Given the description of an element on the screen output the (x, y) to click on. 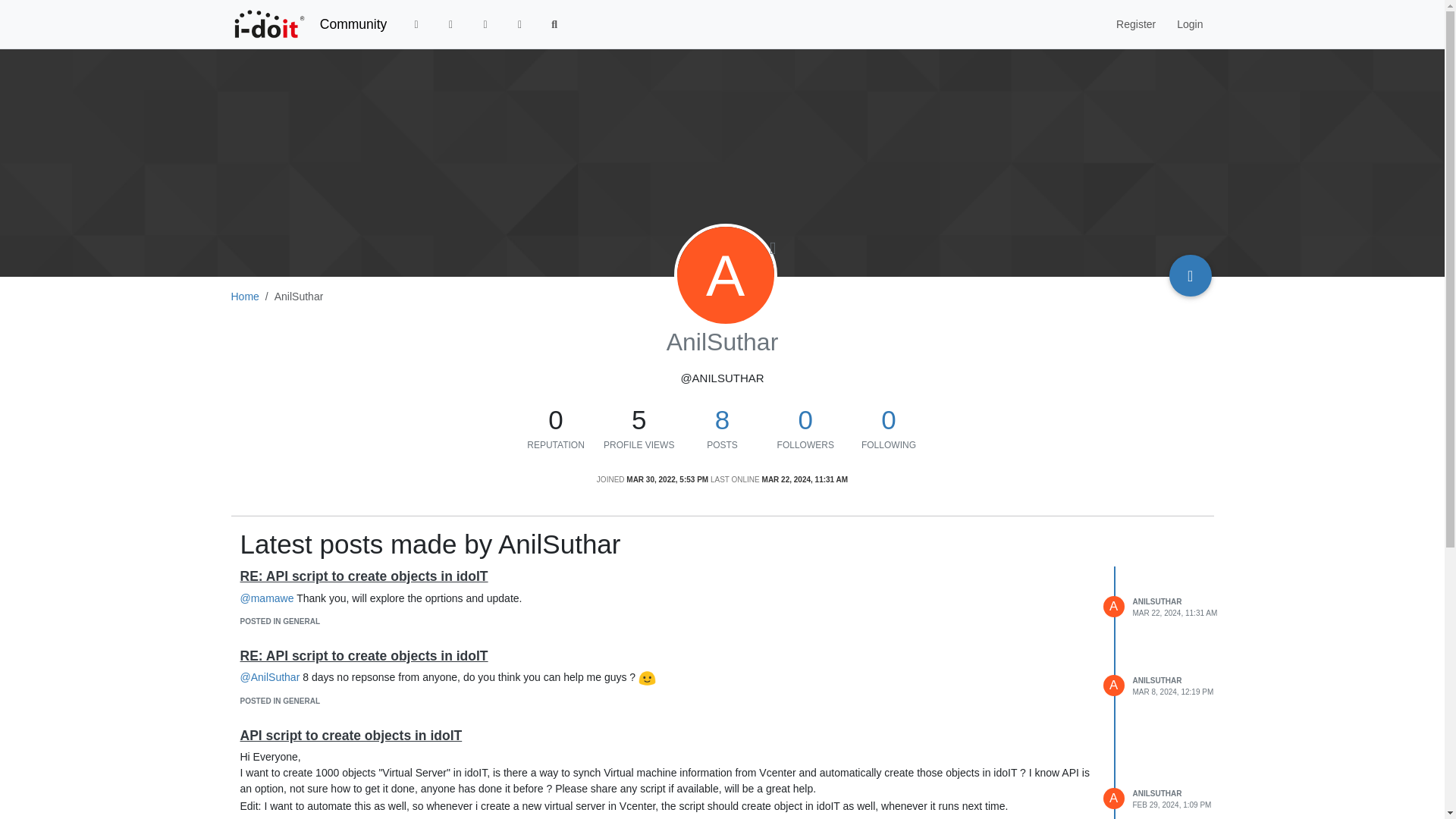
Categories (415, 24)
RE: API script to create objects in idoIT (363, 655)
Community (353, 24)
AnilSuthar (725, 274)
Register (1135, 24)
Login (1189, 24)
Recent (450, 24)
POSTED IN GENERAL (280, 621)
ANILSUTHAR (1157, 601)
Home (244, 296)
